Given the description of an element on the screen output the (x, y) to click on. 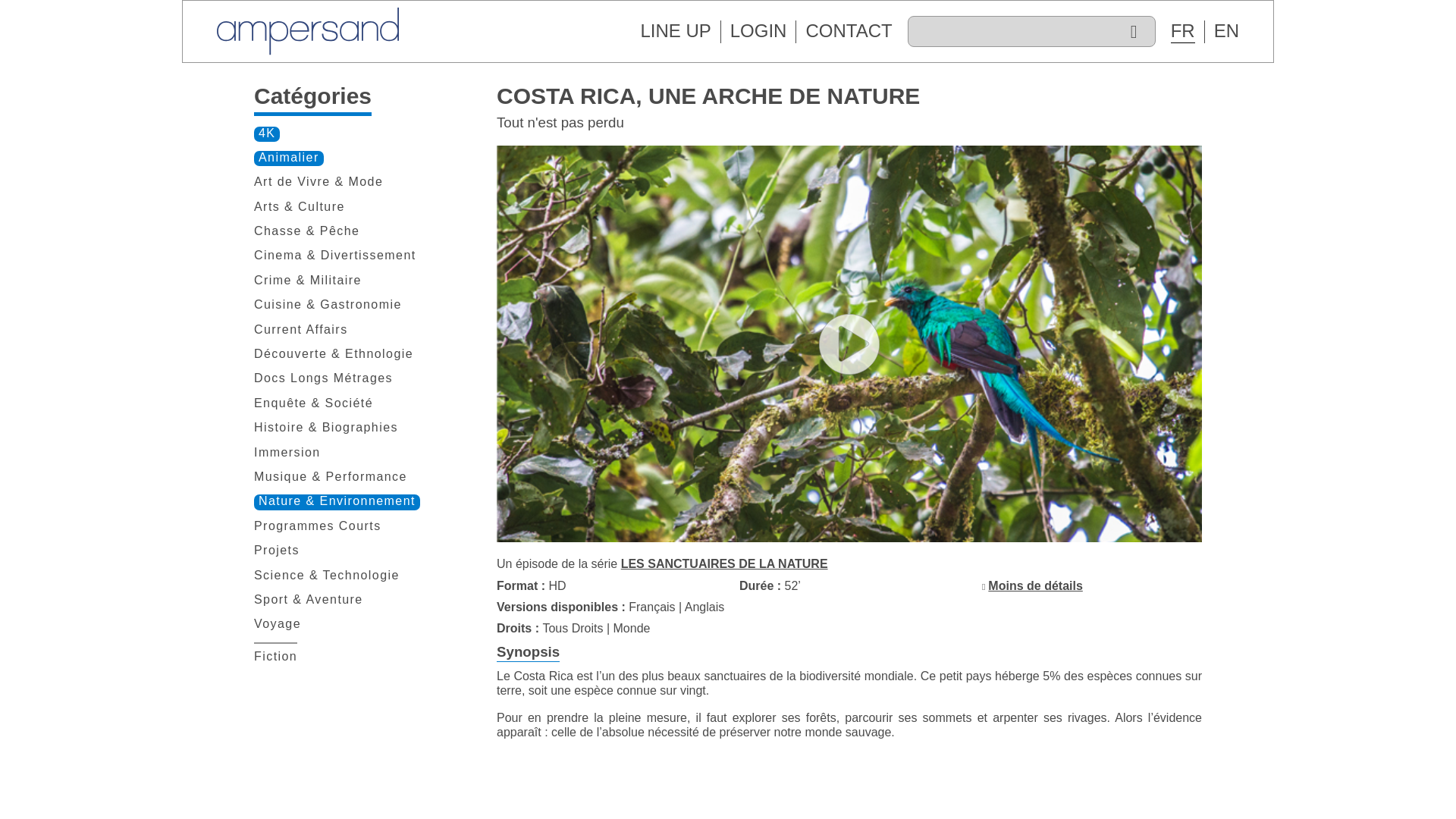
LES SANCTUAIRES DE LA NATURE (724, 563)
4K (266, 133)
Voyage (277, 624)
Projets (276, 550)
Current Affairs (300, 330)
Programmes Courts (317, 526)
Animalier (288, 158)
LINE UP (675, 30)
LOGIN (758, 30)
Immersion (286, 453)
CONTACT (848, 30)
